Given the description of an element on the screen output the (x, y) to click on. 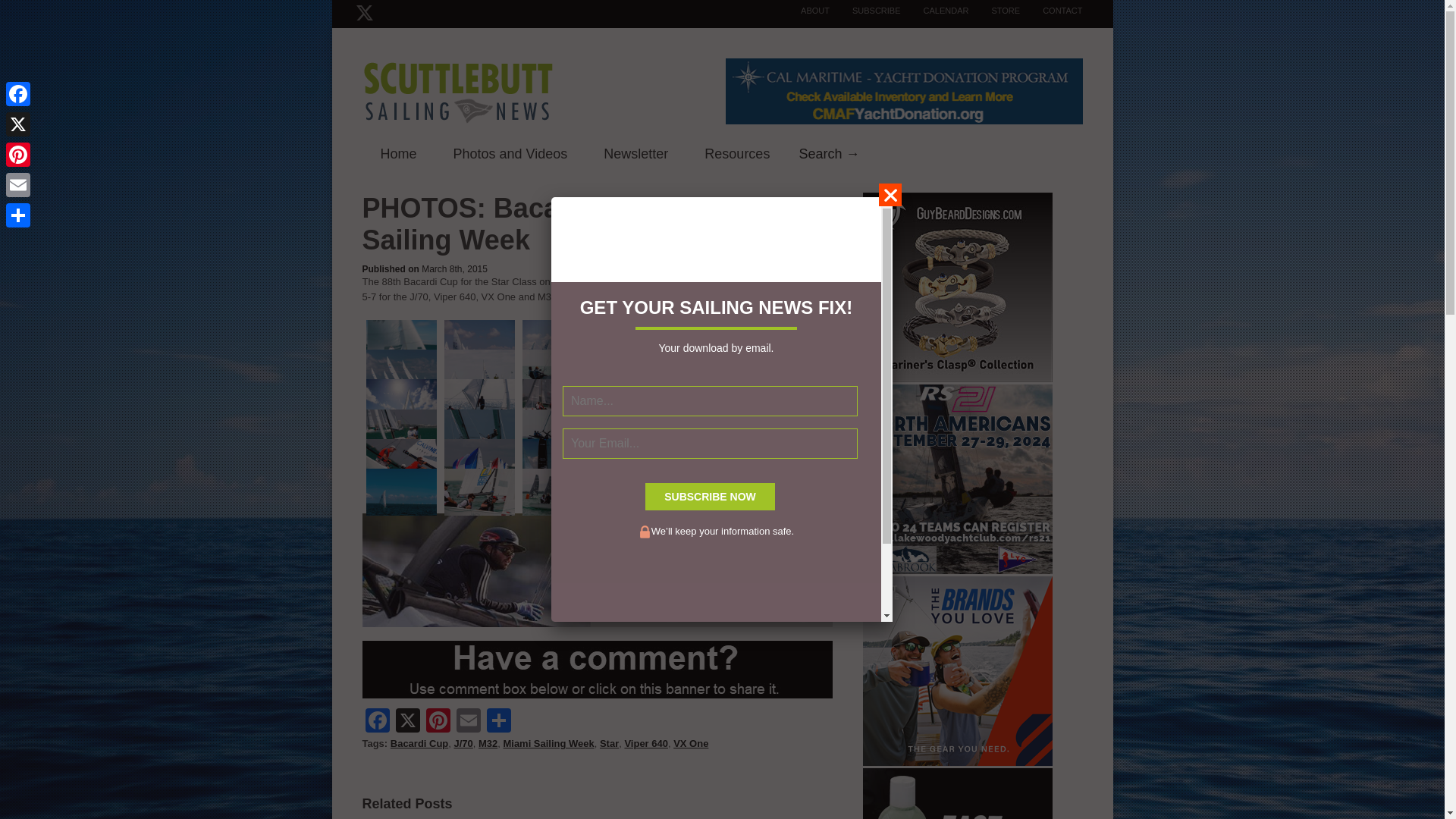
Resources (736, 154)
Email (467, 722)
SUBSCRIBE (865, 10)
X (408, 722)
CALENDAR (935, 10)
Home (398, 154)
Newsletter (635, 154)
Pinterest (437, 722)
Subscribe NOW (709, 496)
Facebook (377, 722)
STORE (994, 10)
Photos and Videos (510, 154)
ABOUT (803, 10)
CONTACT (1050, 10)
